Given the description of an element on the screen output the (x, y) to click on. 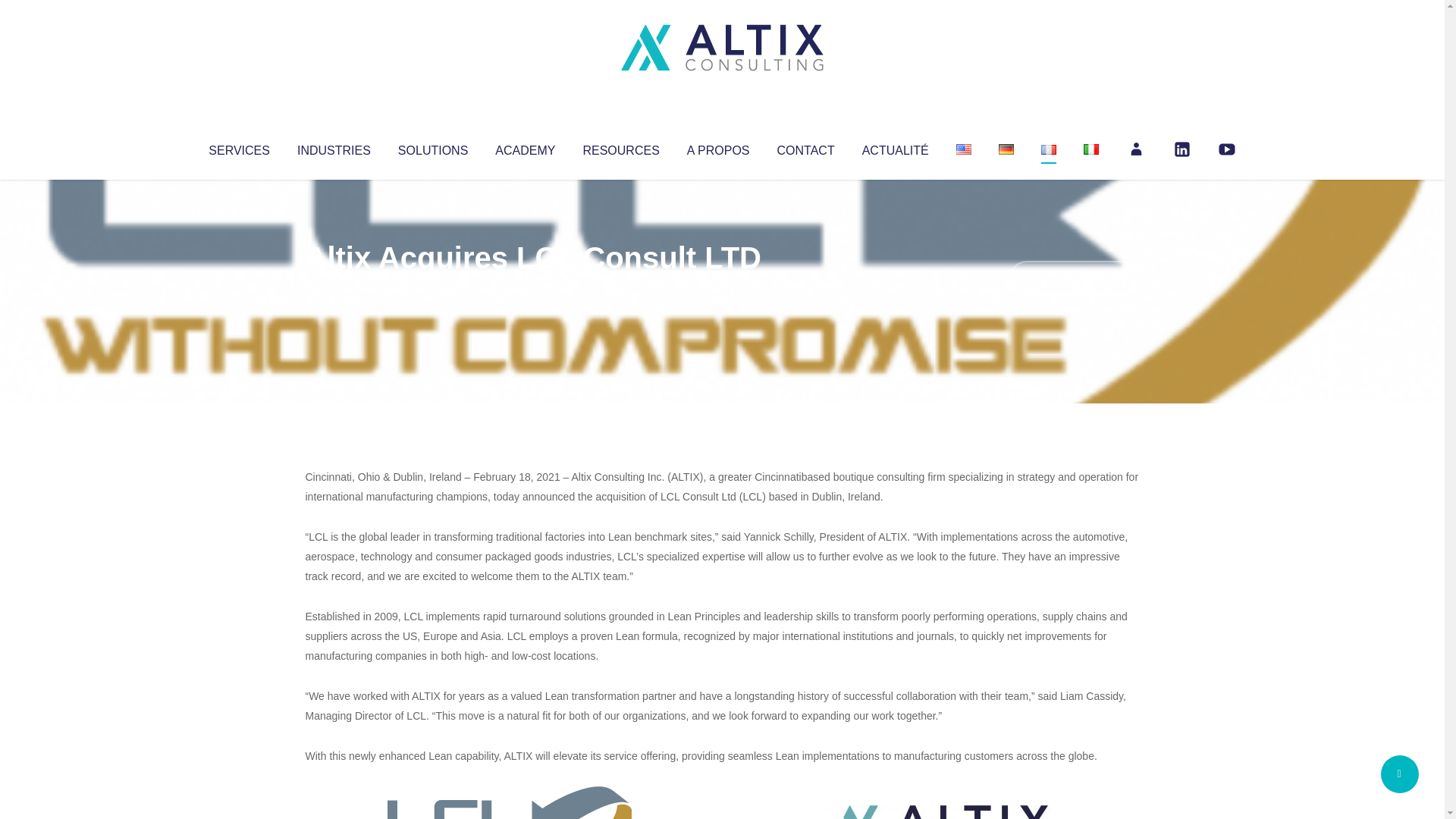
INDUSTRIES (334, 146)
A PROPOS (718, 146)
RESOURCES (620, 146)
Uncategorized (530, 287)
Altix (333, 287)
Articles par Altix (333, 287)
No Comments (1073, 278)
SERVICES (238, 146)
ACADEMY (524, 146)
SOLUTIONS (432, 146)
